Given the description of an element on the screen output the (x, y) to click on. 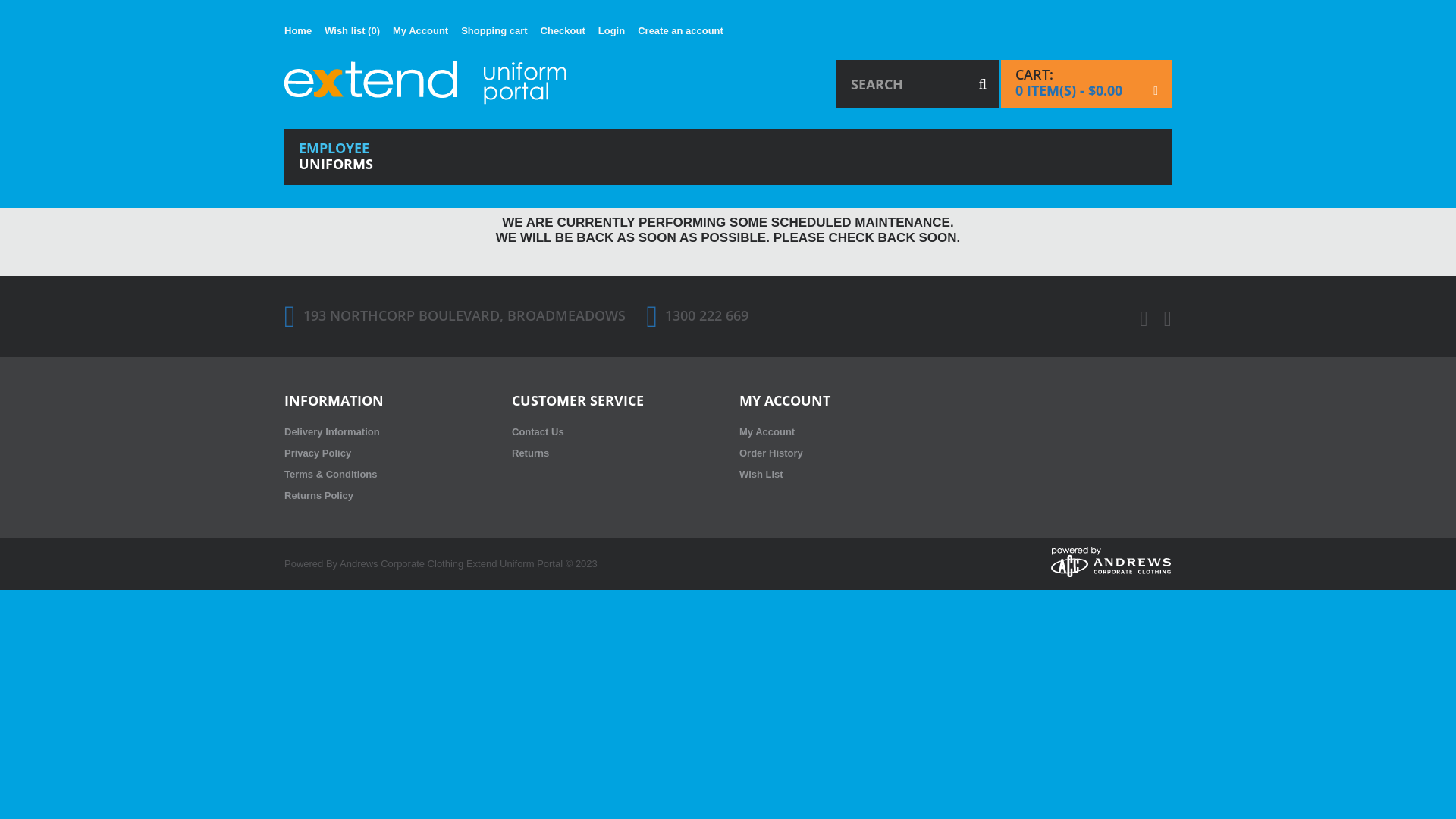
Andrews Corporate Clothing Element type: text (401, 563)
My Account Element type: text (420, 30)
Extend Uniform Portal Element type: hover (425, 82)
Checkout Element type: text (562, 30)
EMPLOYEE
UNIFORMS Element type: text (335, 156)
Privacy Policy Element type: text (317, 452)
Contact Us Element type: text (537, 431)
Shopping cart Element type: text (494, 30)
My Account Element type: text (766, 431)
Wish List Element type: text (761, 474)
Delivery Information Element type: text (331, 431)
Terms & Conditions Element type: text (330, 474)
Login Element type: text (611, 30)
Returns Policy Element type: text (318, 495)
Order History Element type: text (771, 452)
Wish list (0) Element type: text (351, 30)
Returns Element type: text (530, 452)
Home Element type: text (297, 30)
Create an account Element type: text (680, 30)
